Given the description of an element on the screen output the (x, y) to click on. 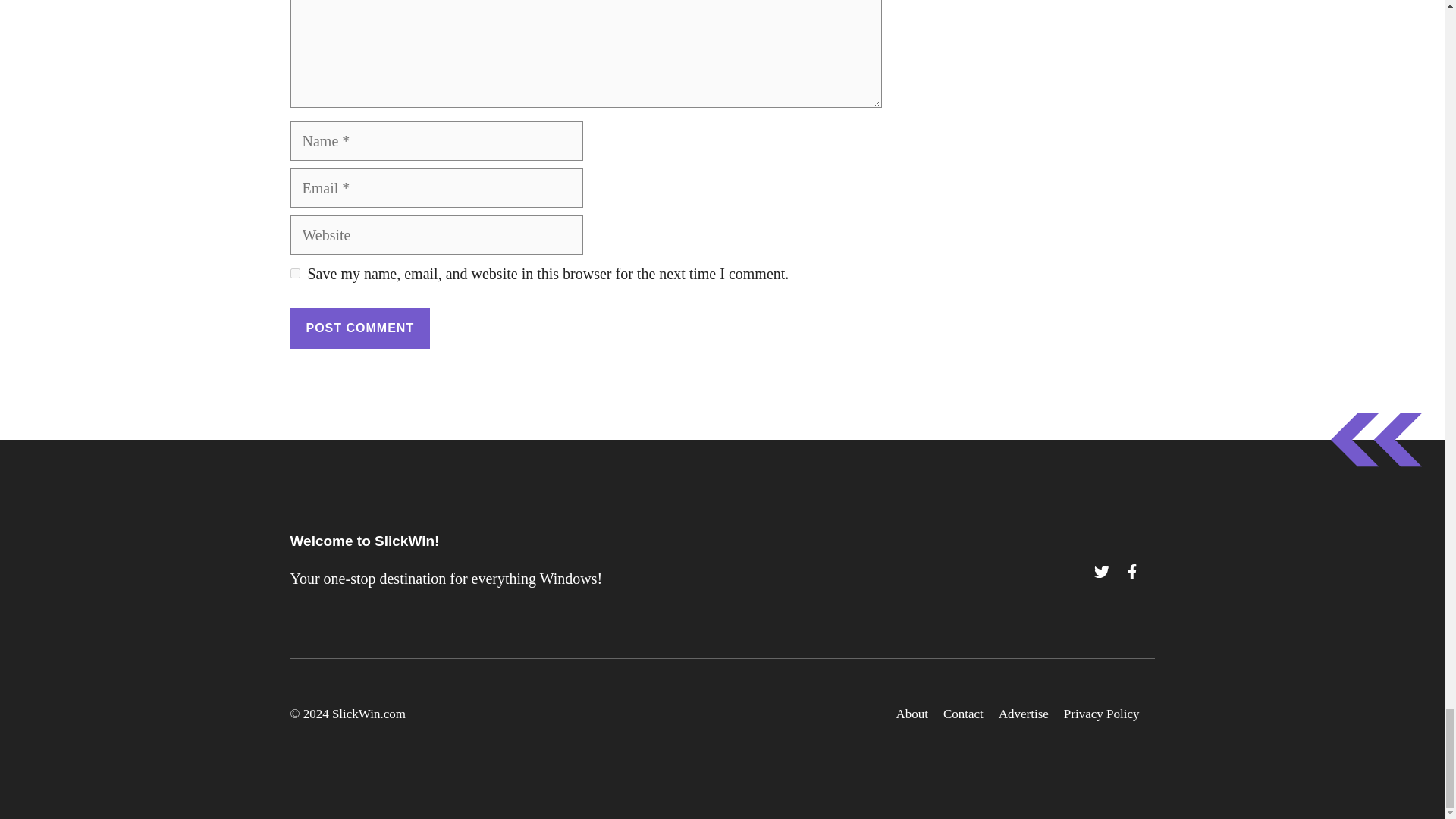
Post Comment (359, 327)
yes (294, 273)
